Given the description of an element on the screen output the (x, y) to click on. 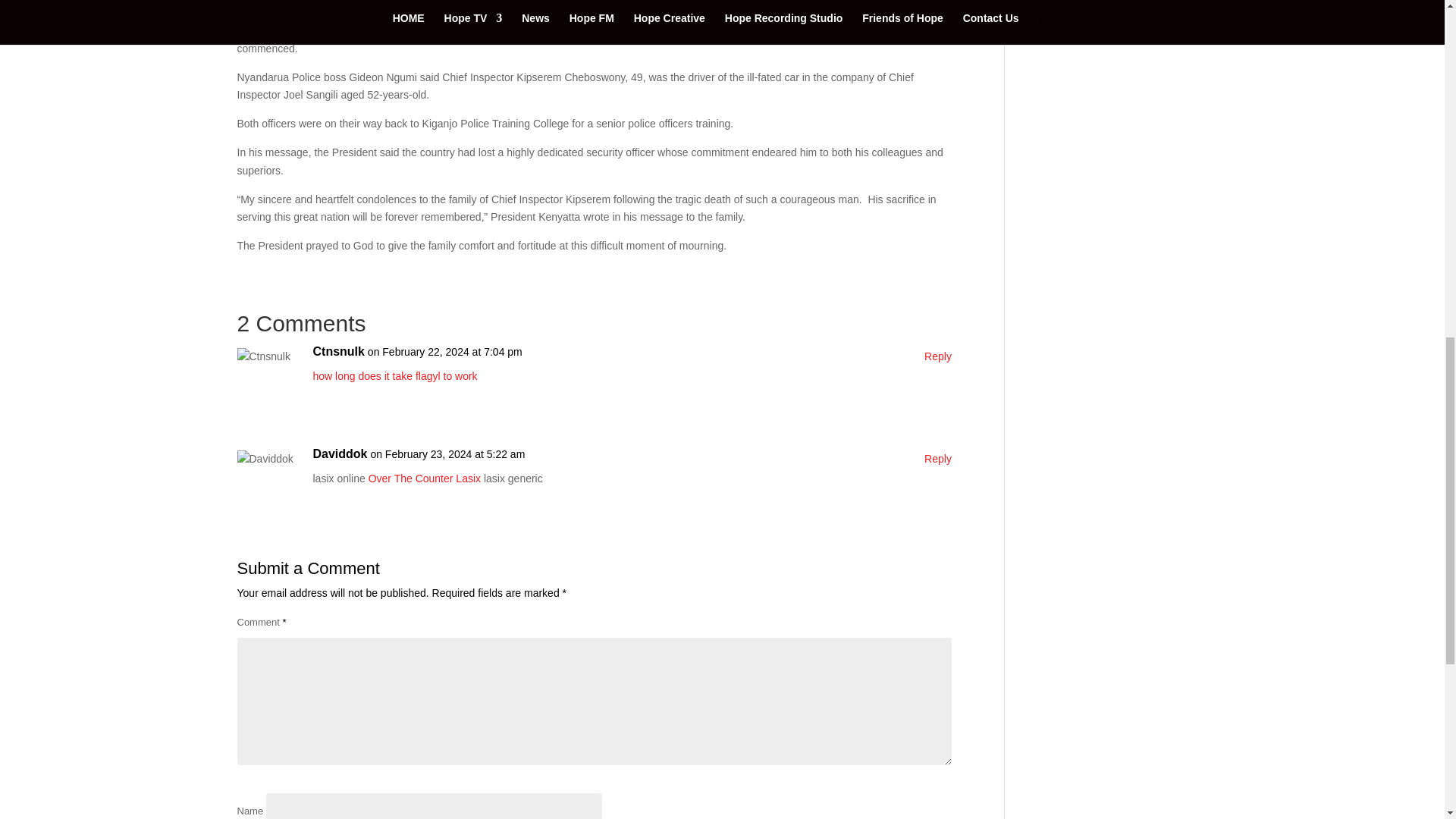
Reply (938, 459)
Over The Counter Lasix (424, 478)
Reply (938, 357)
Ctnsnulk (338, 352)
how long does it take flagyl to work (395, 376)
